Given the description of an element on the screen output the (x, y) to click on. 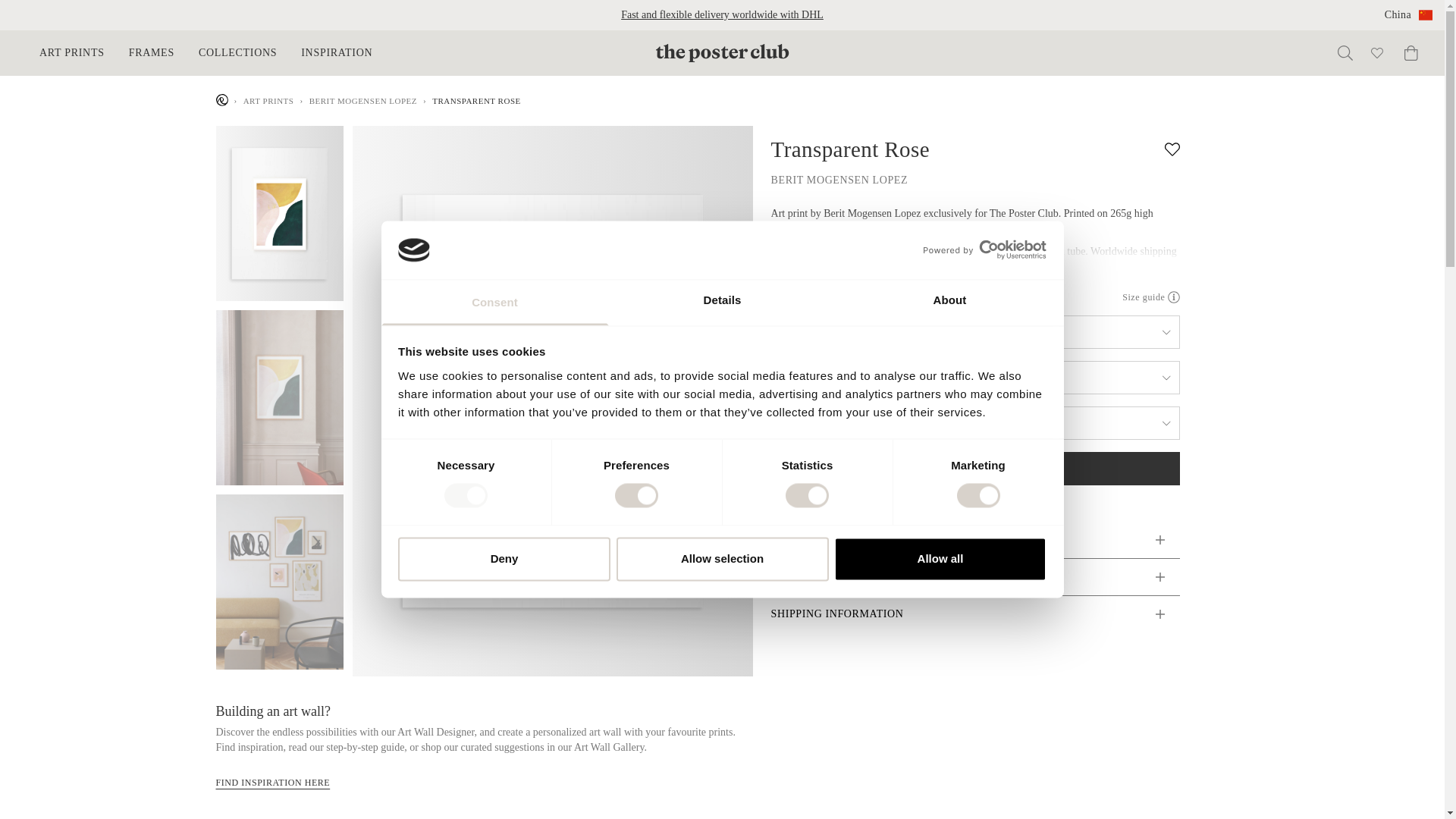
About (948, 302)
Details (721, 302)
Consent (494, 302)
